Given the description of an element on the screen output the (x, y) to click on. 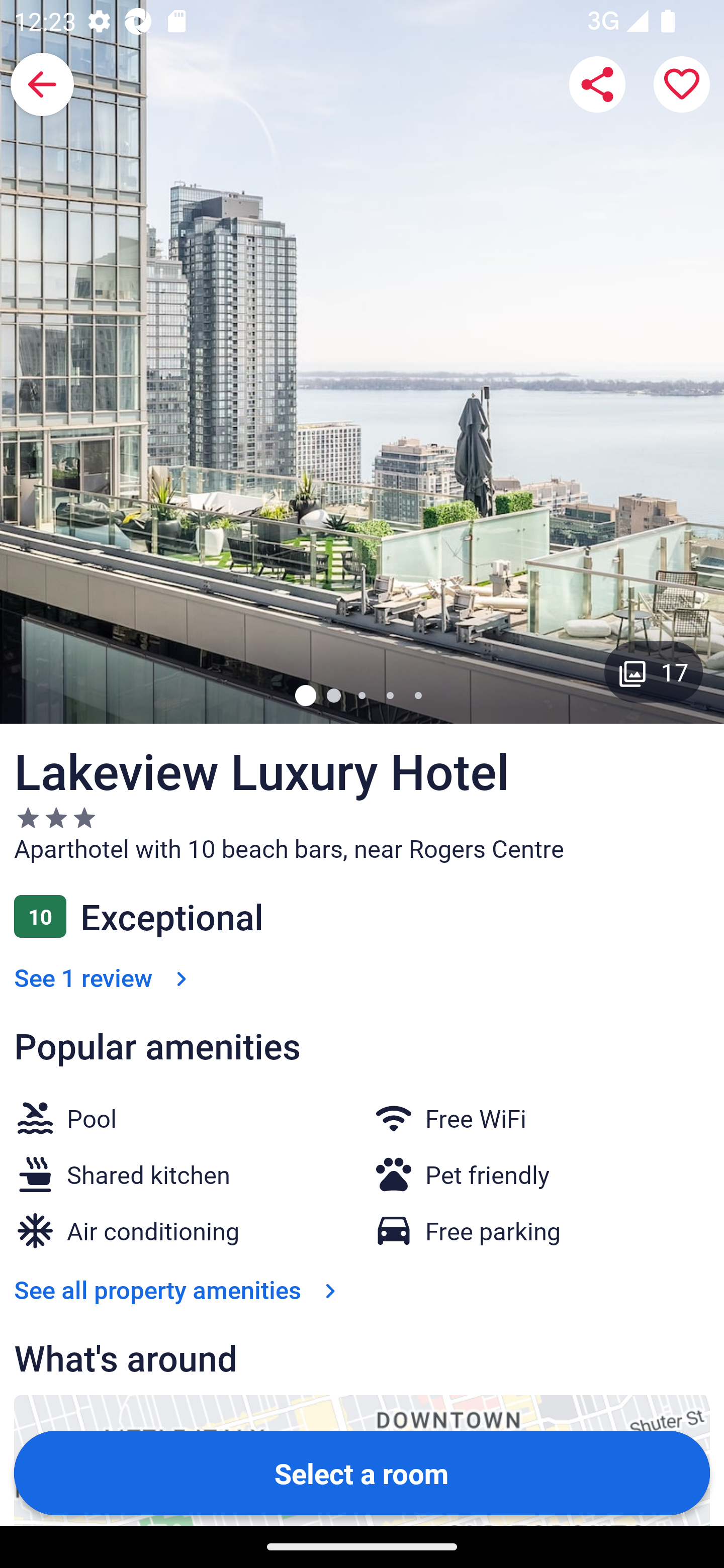
Back (42, 84)
Save property to a trip (681, 84)
Share Lakeview Luxury Hotel (597, 84)
Gallery button with 17 images (653, 671)
See 1 review See 1 review Link (103, 976)
See all property amenities (178, 1289)
Select a room Button Select a room (361, 1472)
